Given the description of an element on the screen output the (x, y) to click on. 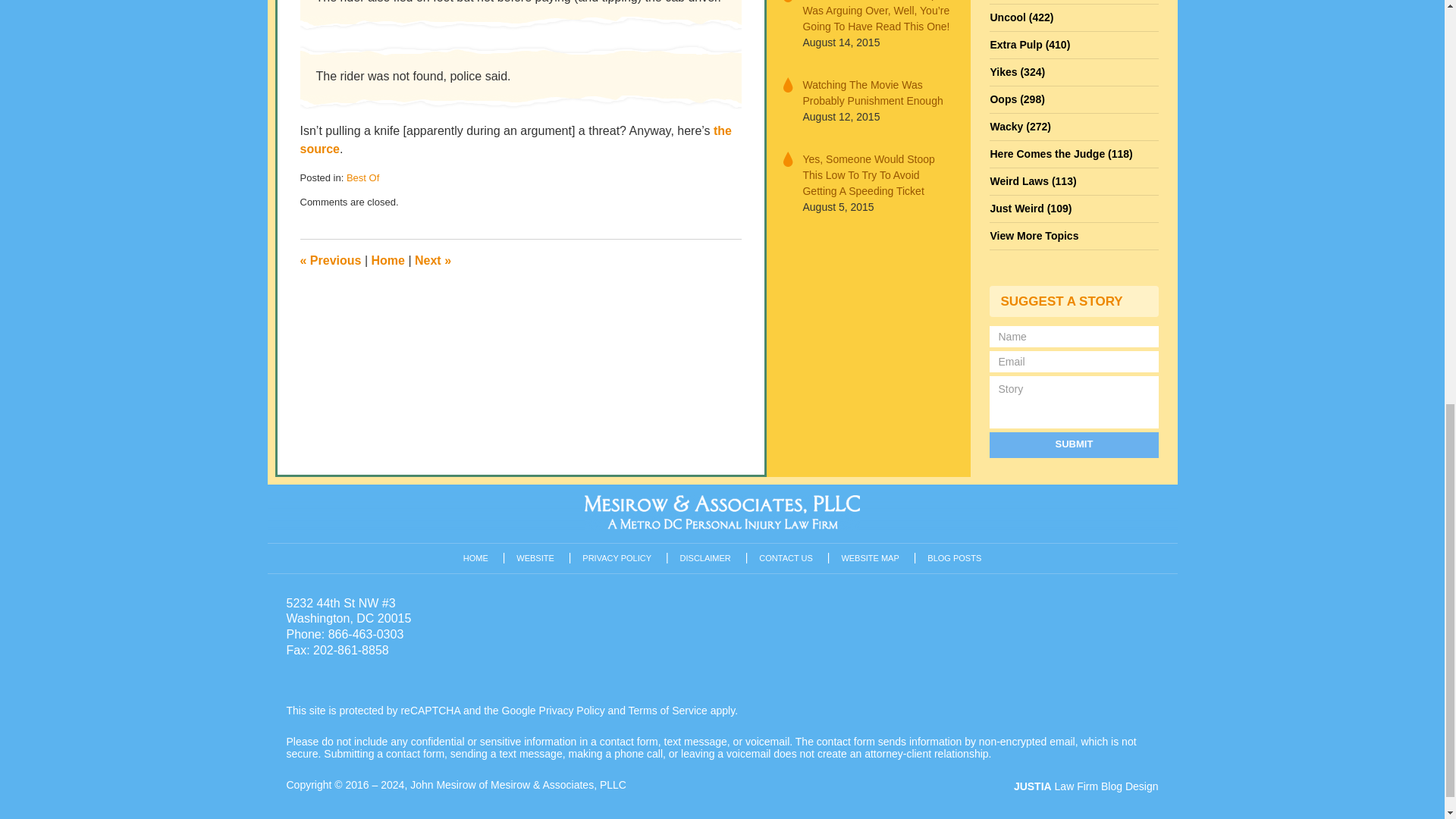
He Outlawed All-You-Can-Eat Buffets. Really. (330, 259)
the source (515, 139)
Best Of (362, 177)
Watching The Movie Was Probably Punishment Enough (877, 92)
Know When To Say When (432, 259)
Home (387, 259)
View all posts in Best Of (362, 177)
